Given the description of an element on the screen output the (x, y) to click on. 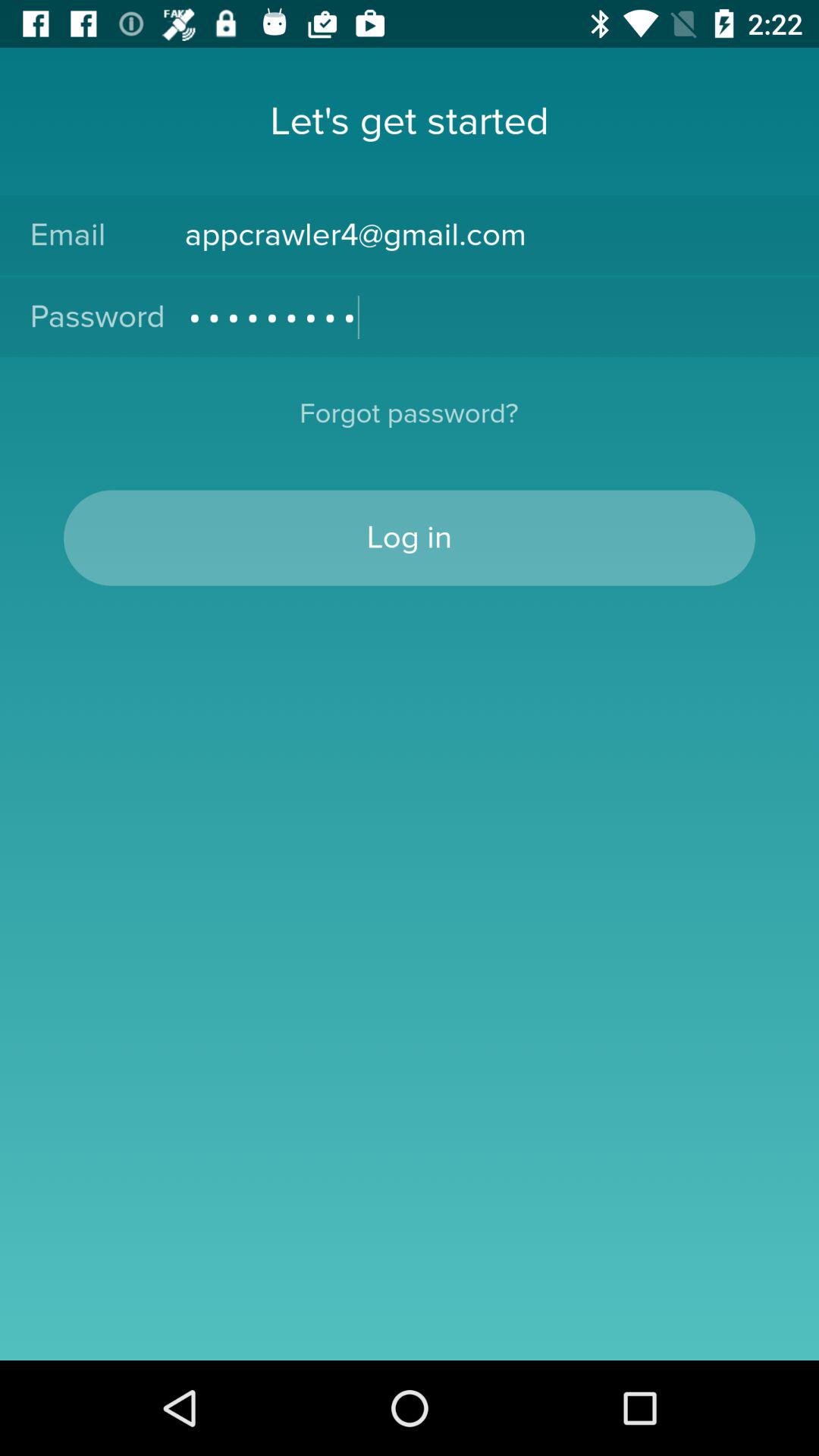
press icon below the appcrawler4@gmail.com icon (486, 316)
